Given the description of an element on the screen output the (x, y) to click on. 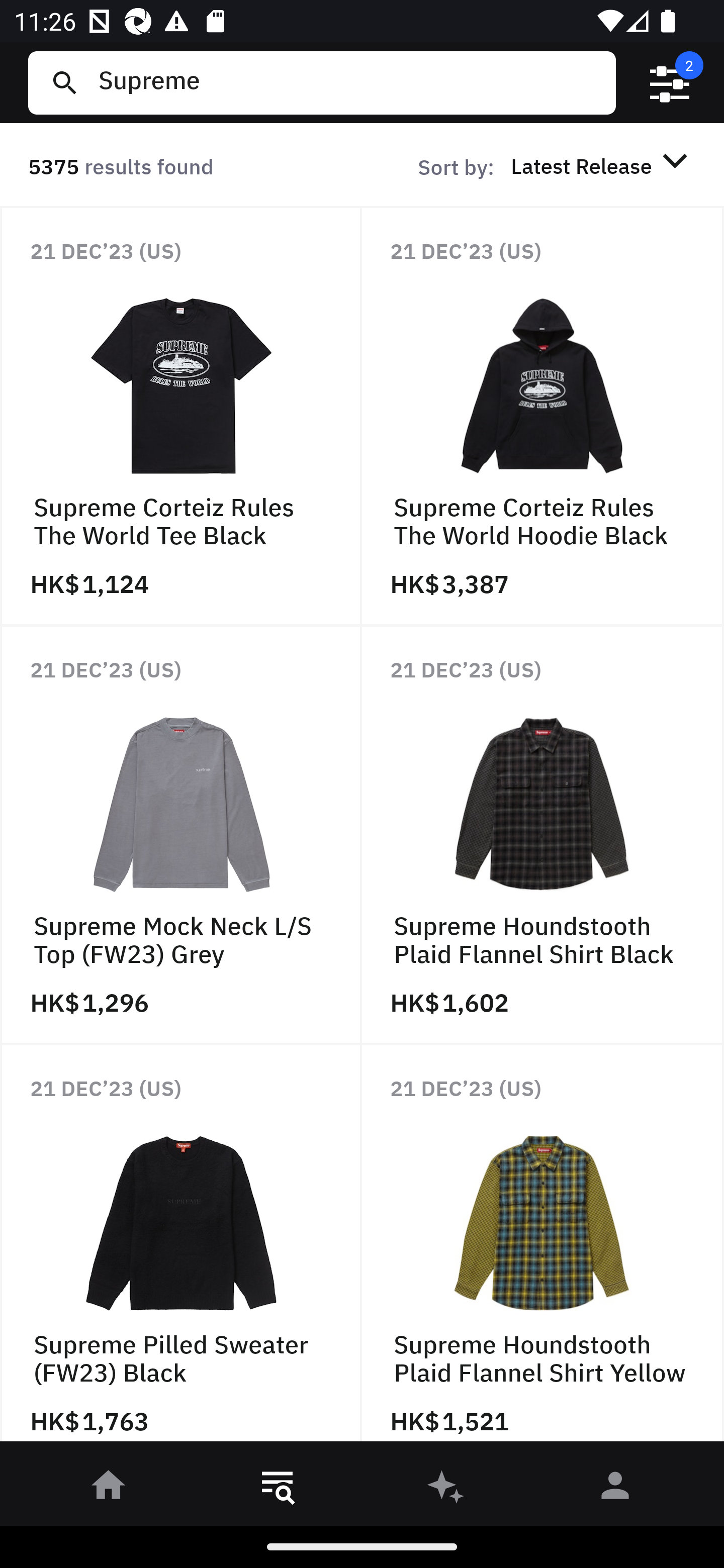
Supreme (349, 82)
 (669, 82)
Latest Release  (602, 165)
󰋜 (108, 1488)
󱎸 (277, 1488)
󰫢 (446, 1488)
󰀄 (615, 1488)
